Given the description of an element on the screen output the (x, y) to click on. 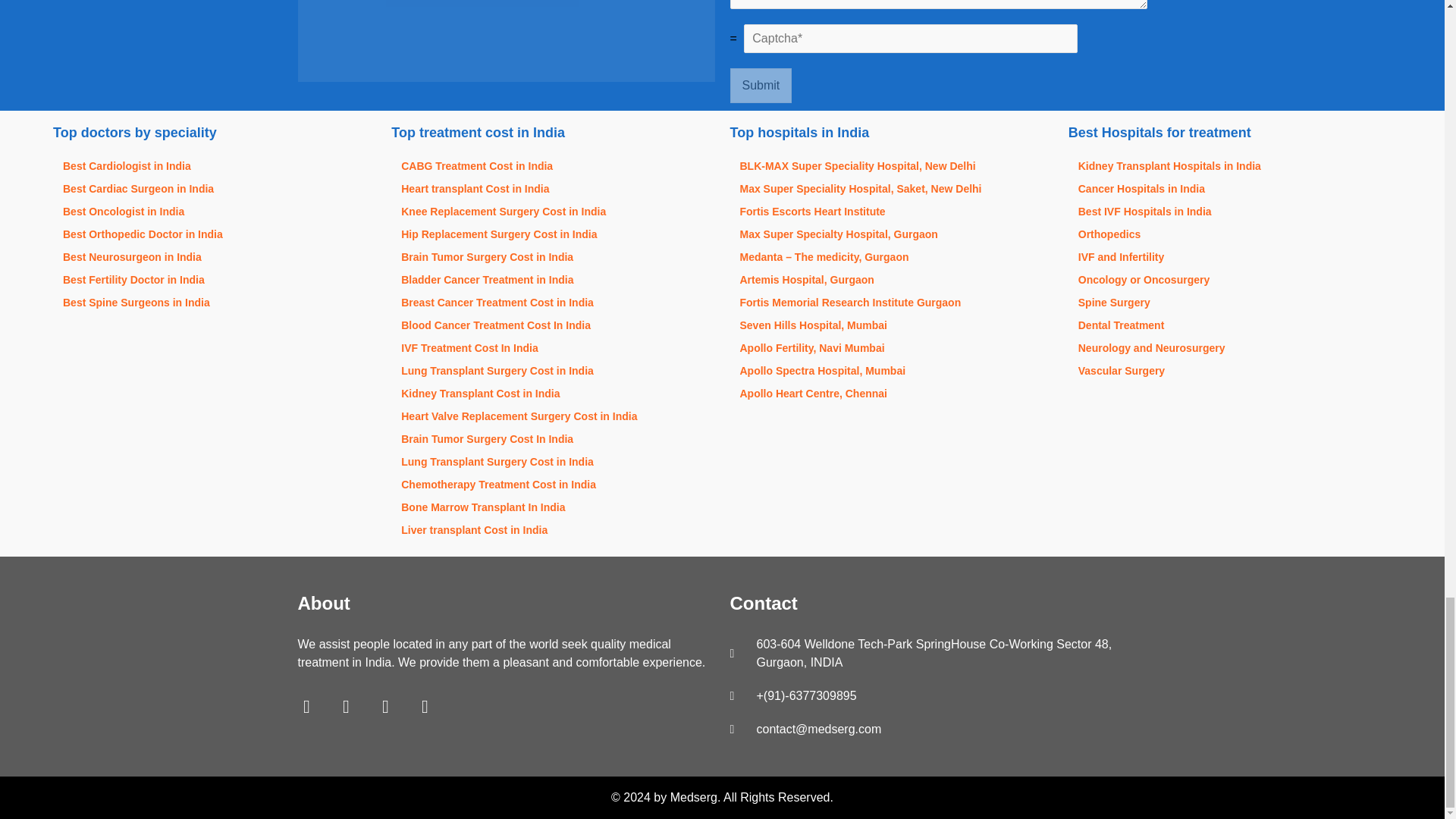
Top hospitals in India (890, 132)
Best Hospitals for treatment (1229, 132)
About (505, 606)
Top treatment cost in India (552, 132)
Contact (938, 606)
Top doctors by speciality (213, 132)
